Given the description of an element on the screen output the (x, y) to click on. 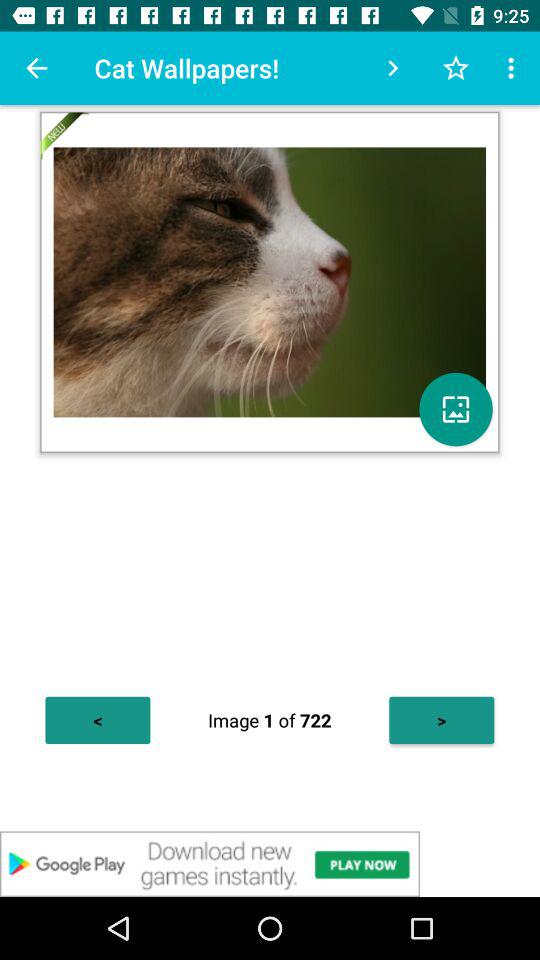
view the image (455, 409)
